Given the description of an element on the screen output the (x, y) to click on. 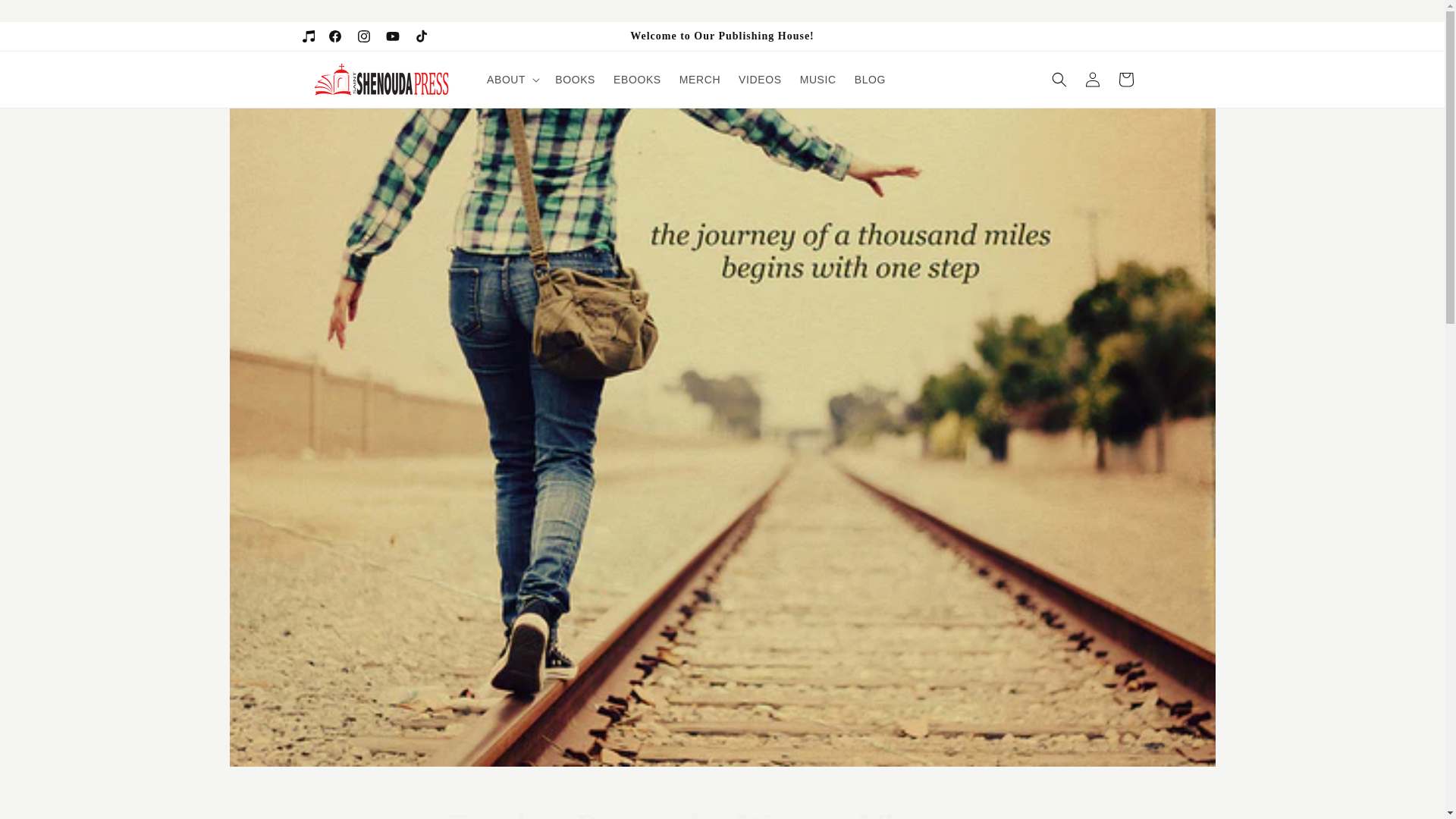
Log in (1091, 79)
BLOG (870, 79)
YouTube (391, 36)
EBOOKS (636, 79)
Fasting Paves the Way to Virtue (721, 811)
TikTok (420, 36)
MUSIC (817, 79)
VIDEOS (759, 79)
Skip to content (46, 18)
Facebook (334, 36)
